Given the description of an element on the screen output the (x, y) to click on. 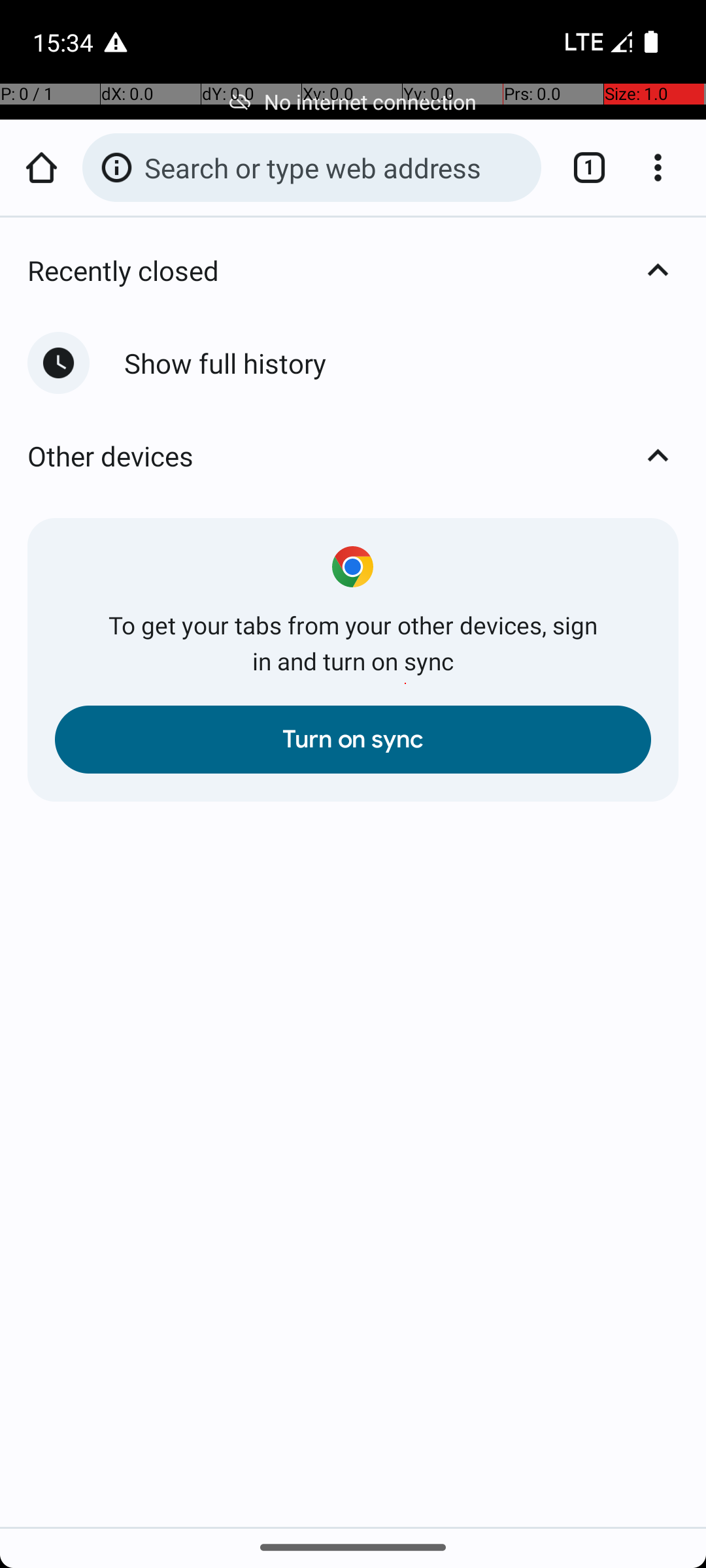
No internet connection Element type: android.widget.TextView (352, 101)
Search or type web address Element type: android.widget.EditText (335, 167)
Switch or close tabs Element type: android.widget.ImageButton (582, 167)
Your connection to this site is not secure Element type: android.widget.ImageView (116, 167)
Recently closed Element type: android.widget.TextView (366, 269)
Tap to collapse Element type: android.widget.ImageView (657, 269)
Show full history Element type: android.widget.TextView (401, 362)
Other devices Element type: android.widget.TextView (366, 455)
To get your tabs from your other devices, sign in and turn on sync Element type: android.widget.TextView (352, 642)
Turn on sync Element type: android.widget.Button (352, 739)
Phone one bar. Element type: android.widget.FrameLayout (595, 41)
